Given the description of an element on the screen output the (x, y) to click on. 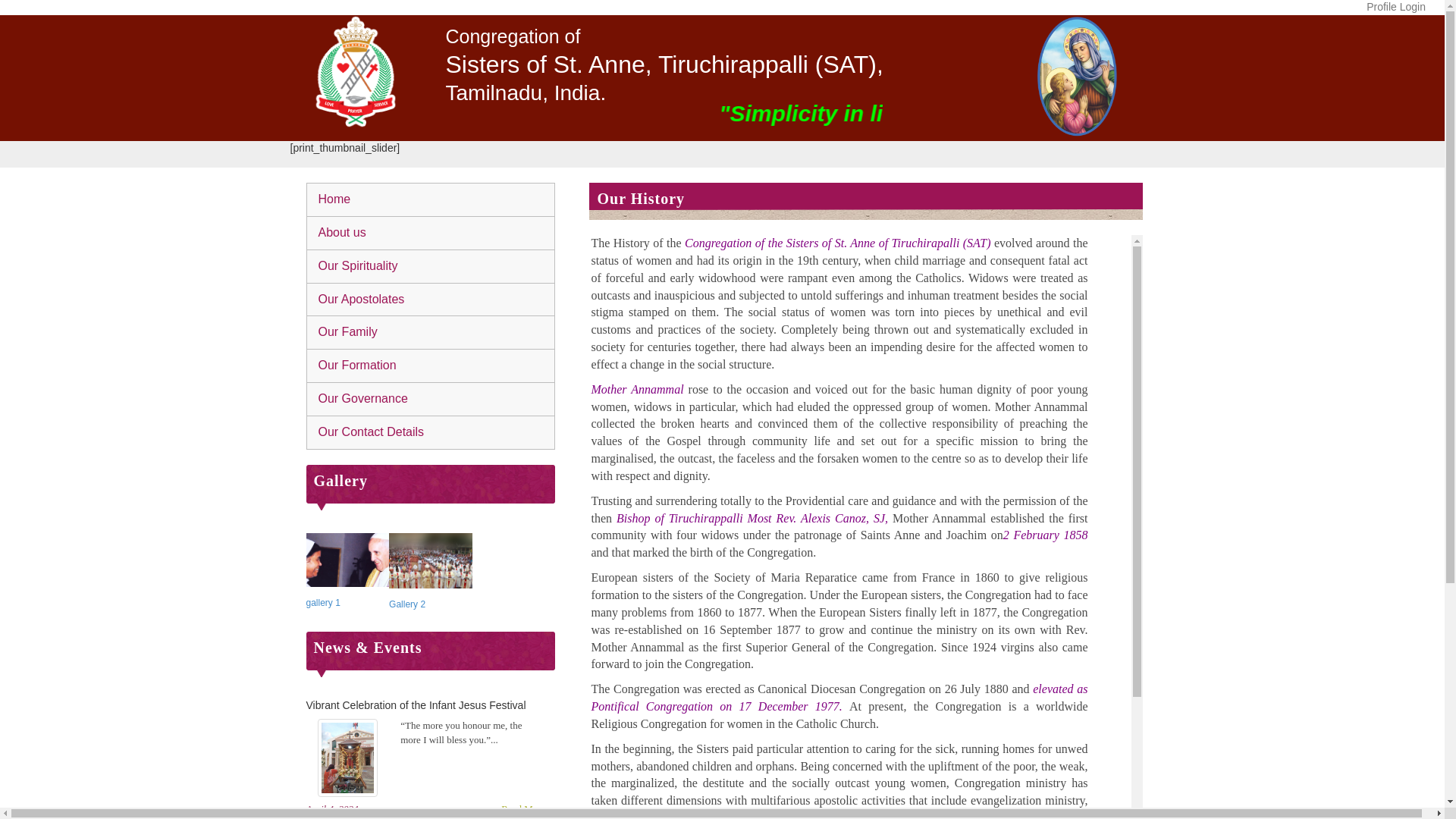
Gallery 2 (406, 603)
Our Spirituality (430, 265)
gallery 1 (322, 602)
Gallery 2 (406, 603)
Our Contact Details (430, 431)
Our Family (430, 331)
About us (430, 232)
gallery 1 (322, 602)
Read More (523, 807)
Profile Login (1395, 10)
Our Governance (430, 398)
Home (430, 199)
Our Apostolates (430, 298)
Our Formation (430, 365)
